Given the description of an element on the screen output the (x, y) to click on. 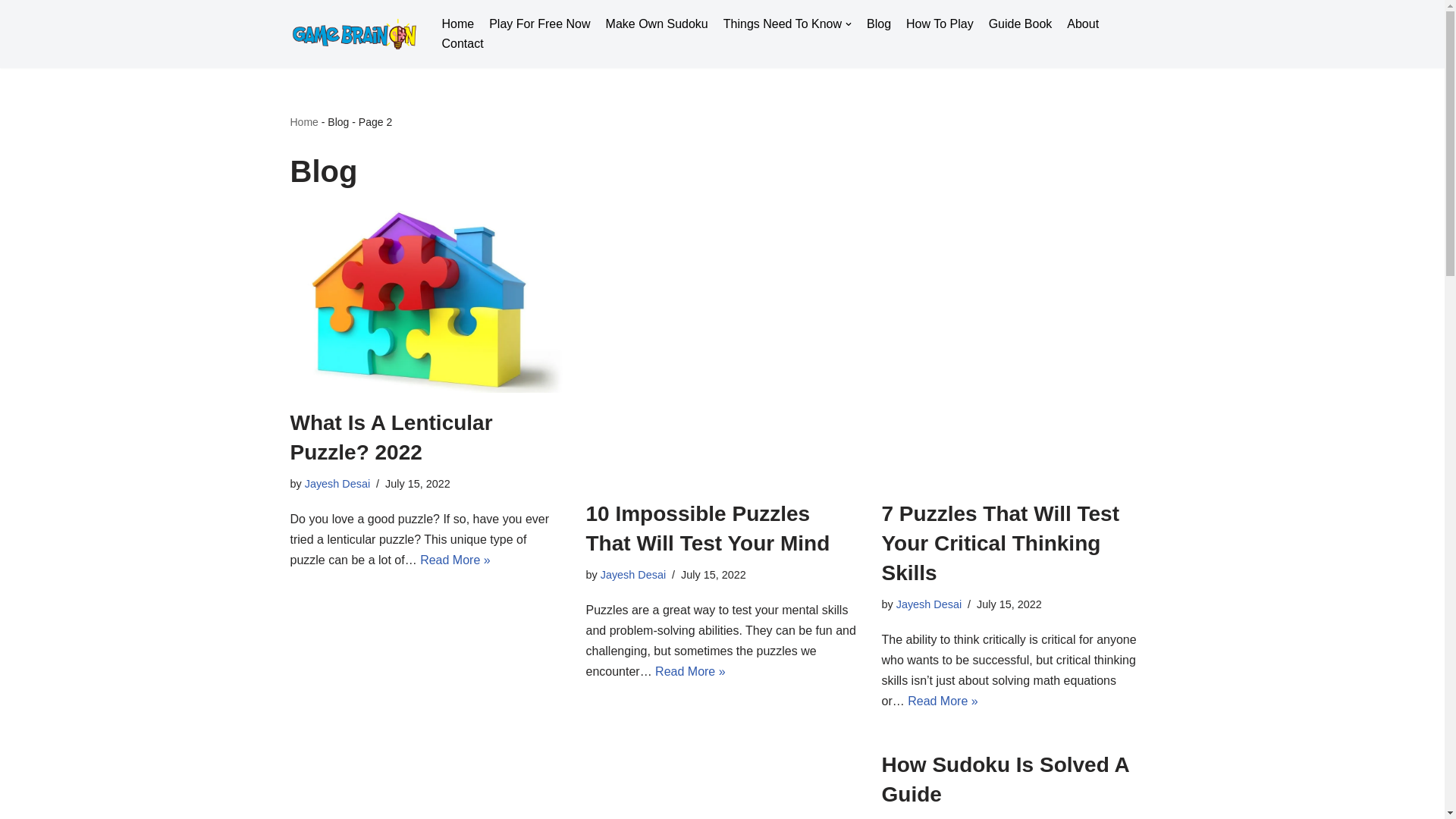
What Is A Lenticular Puzzle? 2022 (425, 301)
Posts by Jayesh Desai (336, 483)
7 Puzzles That Will Test Your Critical Thinking Skills (1017, 347)
Make Own Sudoku (656, 24)
Home (303, 121)
Home (457, 24)
10 Impossible Puzzles That Will Test Your Mind (722, 347)
What Is A Lenticular Puzzle? 2022 (390, 437)
Posts by Jayesh Desai (928, 604)
How To Play (939, 24)
About (1083, 24)
Jayesh Desai (632, 574)
Skip to content (11, 31)
Does Sudoku Make You Smarter? (425, 784)
